Given the description of an element on the screen output the (x, y) to click on. 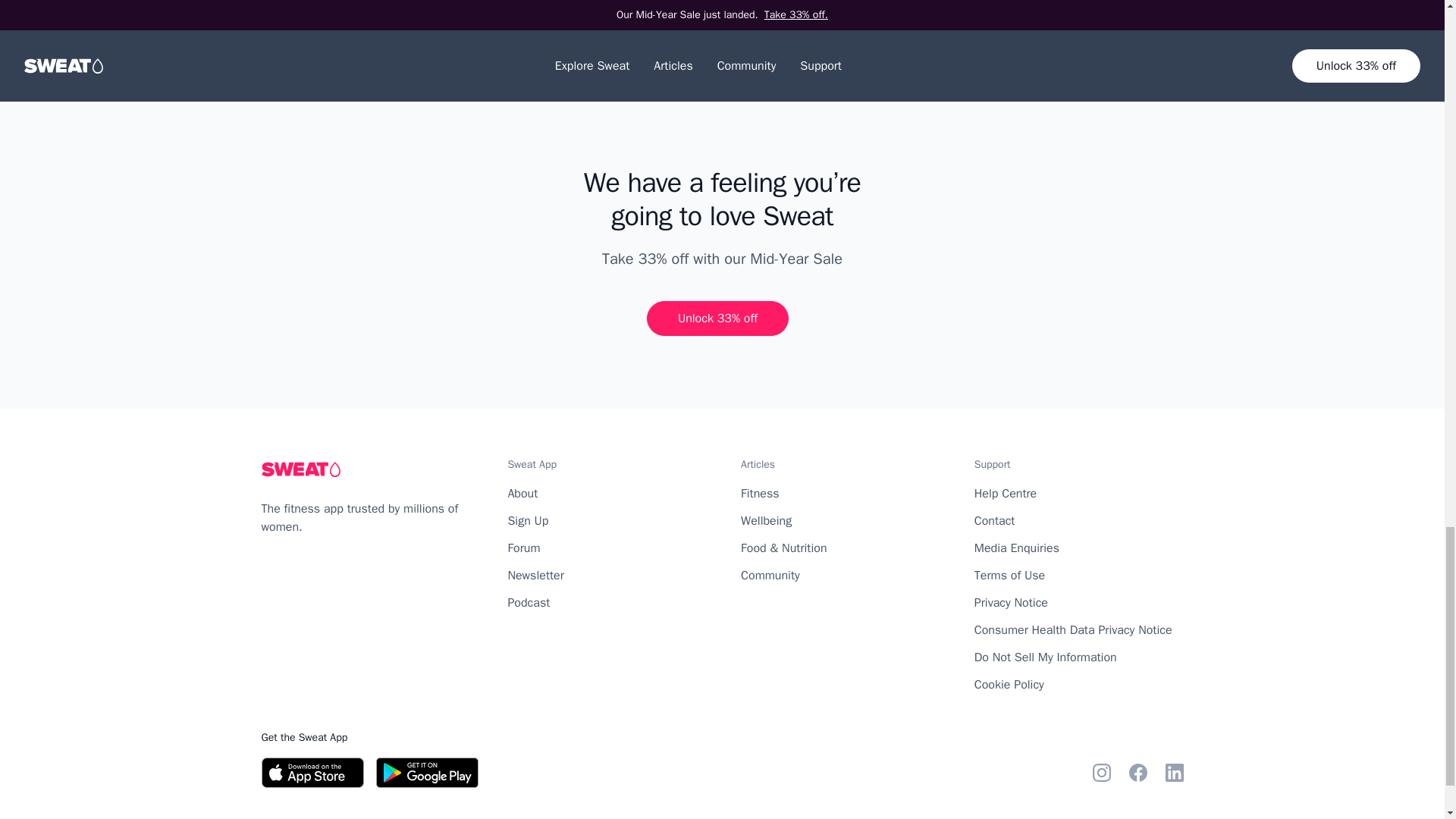
Fitness (759, 493)
Wellbeing (766, 520)
Forum (523, 548)
Newsletter (534, 575)
Contact (994, 520)
Community (770, 575)
About (521, 493)
Podcast (528, 602)
Help Centre (1005, 493)
Sign Up (527, 520)
